Given the description of an element on the screen output the (x, y) to click on. 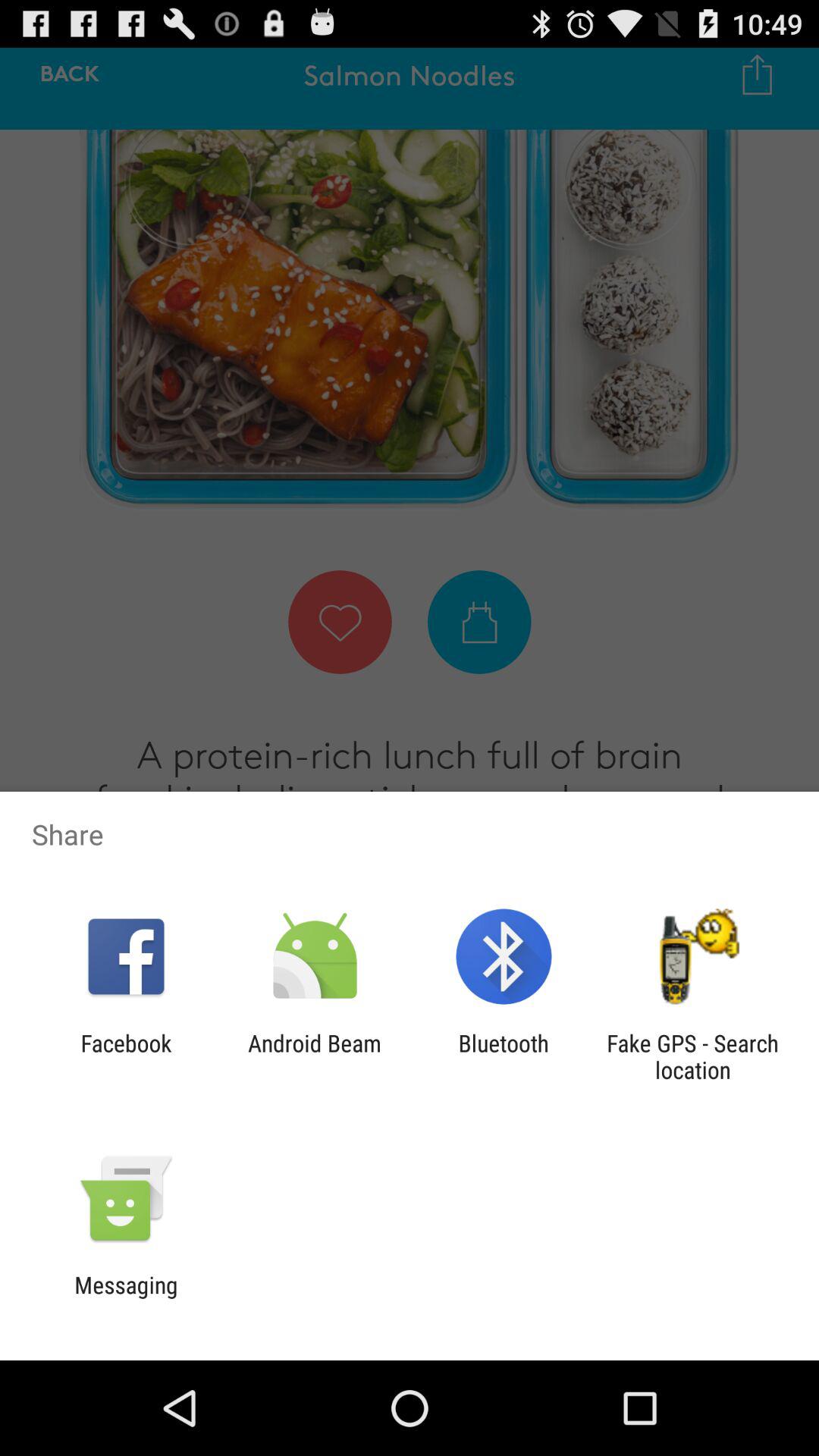
select the app next to android beam item (125, 1056)
